Given the description of an element on the screen output the (x, y) to click on. 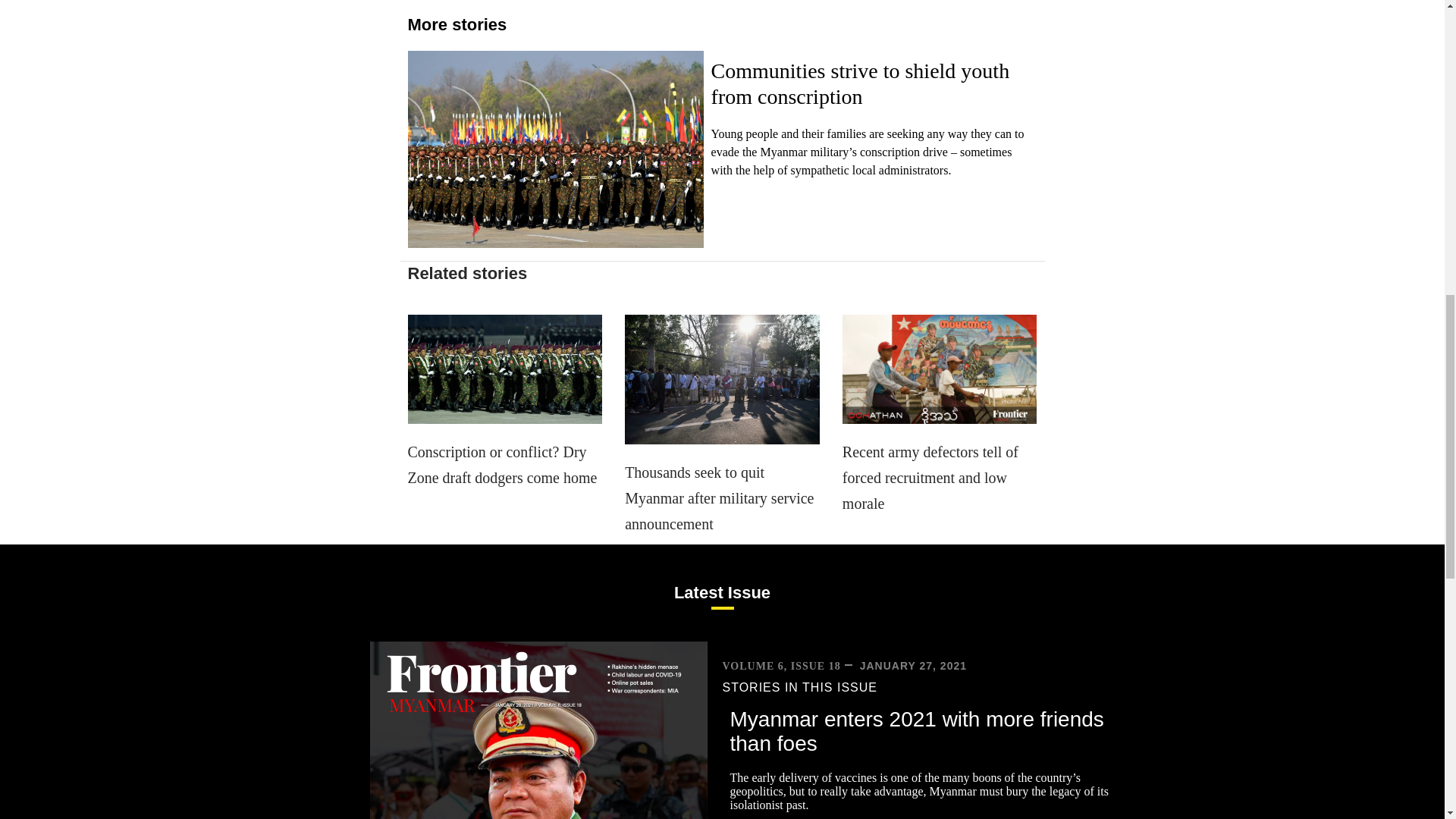
ConscriptionExodus1 (504, 369)
ConscriptionStory1 (555, 148)
Communities strive to shield youth from conscription (860, 83)
ThaiEmbassy (721, 379)
cover (538, 730)
VOLUME 6, ISSUE 18 (781, 665)
Conscription or conflict? Dry Zone draft dodgers come home (501, 464)
